Given the description of an element on the screen output the (x, y) to click on. 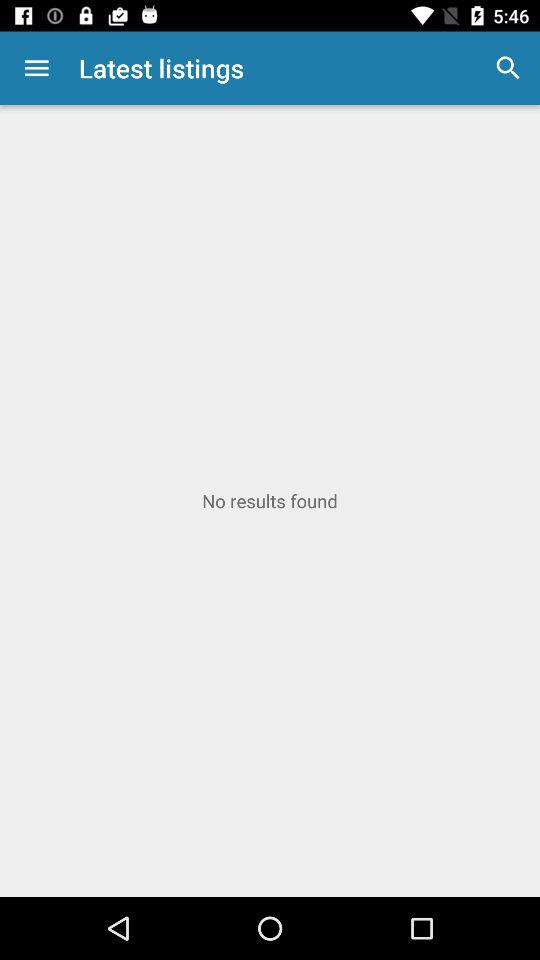
select the item to the right of latest listings (508, 67)
